Given the description of an element on the screen output the (x, y) to click on. 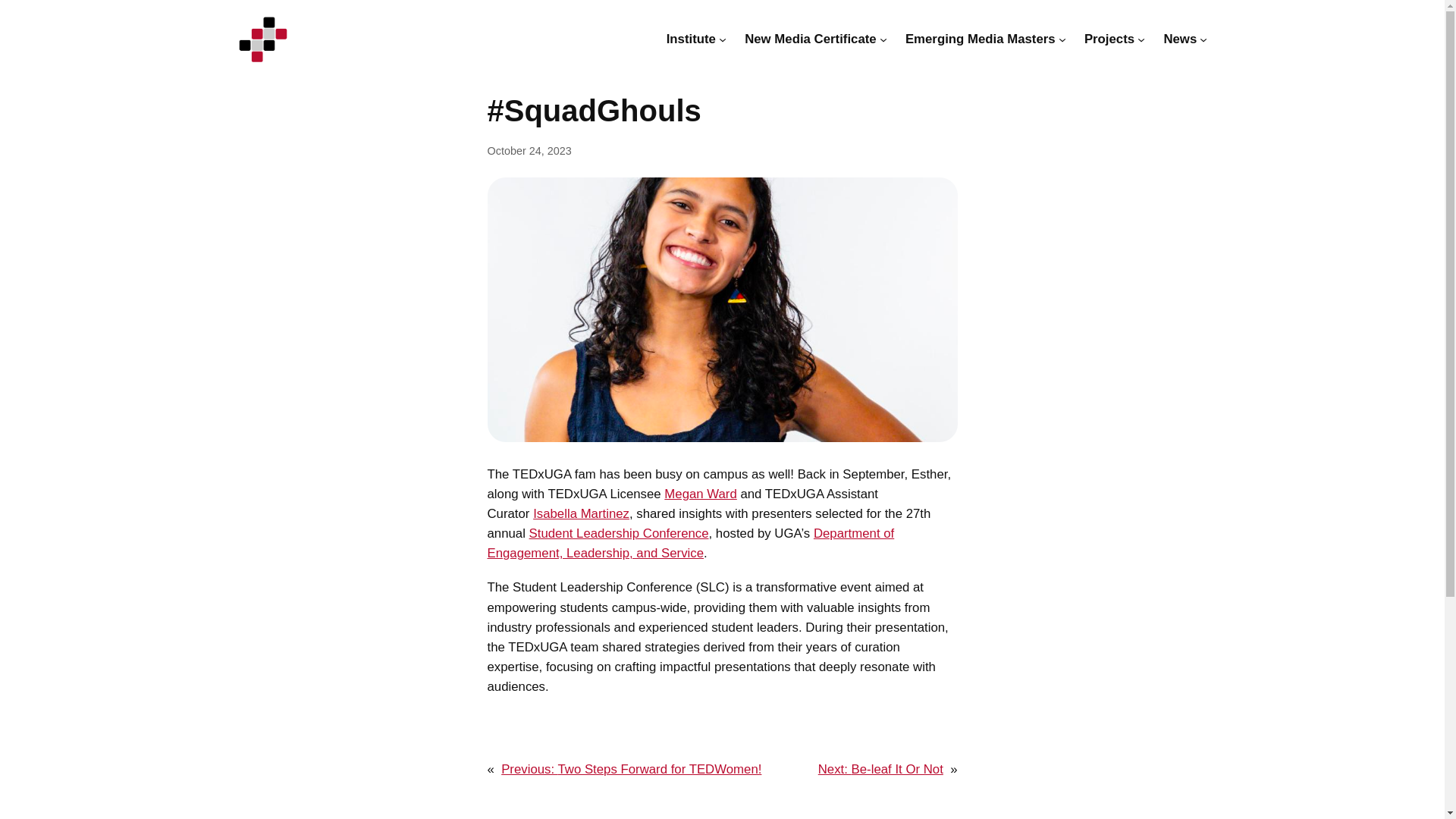
Institute (691, 39)
New Media Certificate (810, 39)
News (1179, 39)
Projects (1109, 39)
Megan Ward (699, 493)
Emerging Media Masters (980, 39)
